Given the description of an element on the screen output the (x, y) to click on. 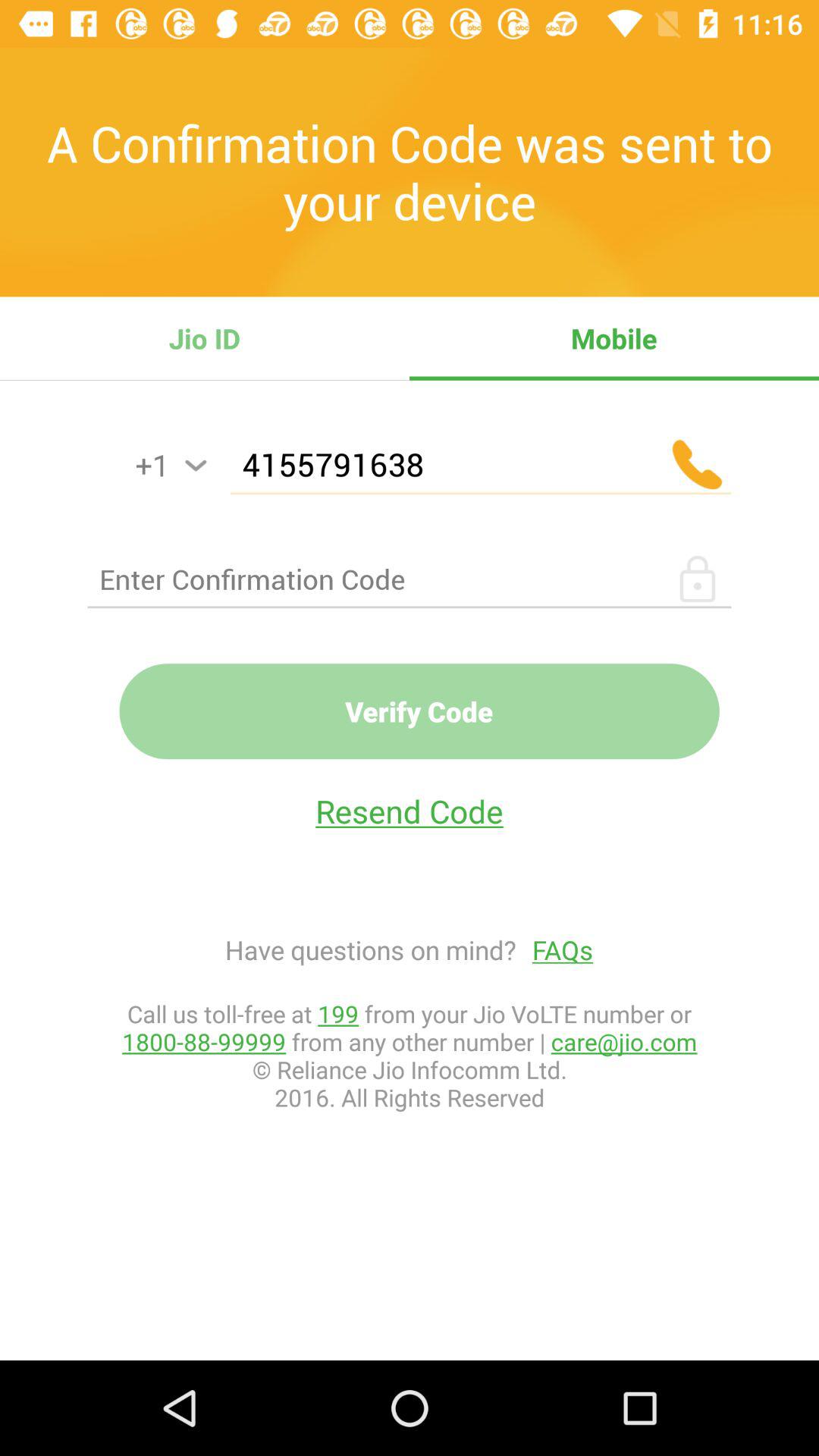
turn off the icon to the right of have questions on icon (554, 949)
